Given the description of an element on the screen output the (x, y) to click on. 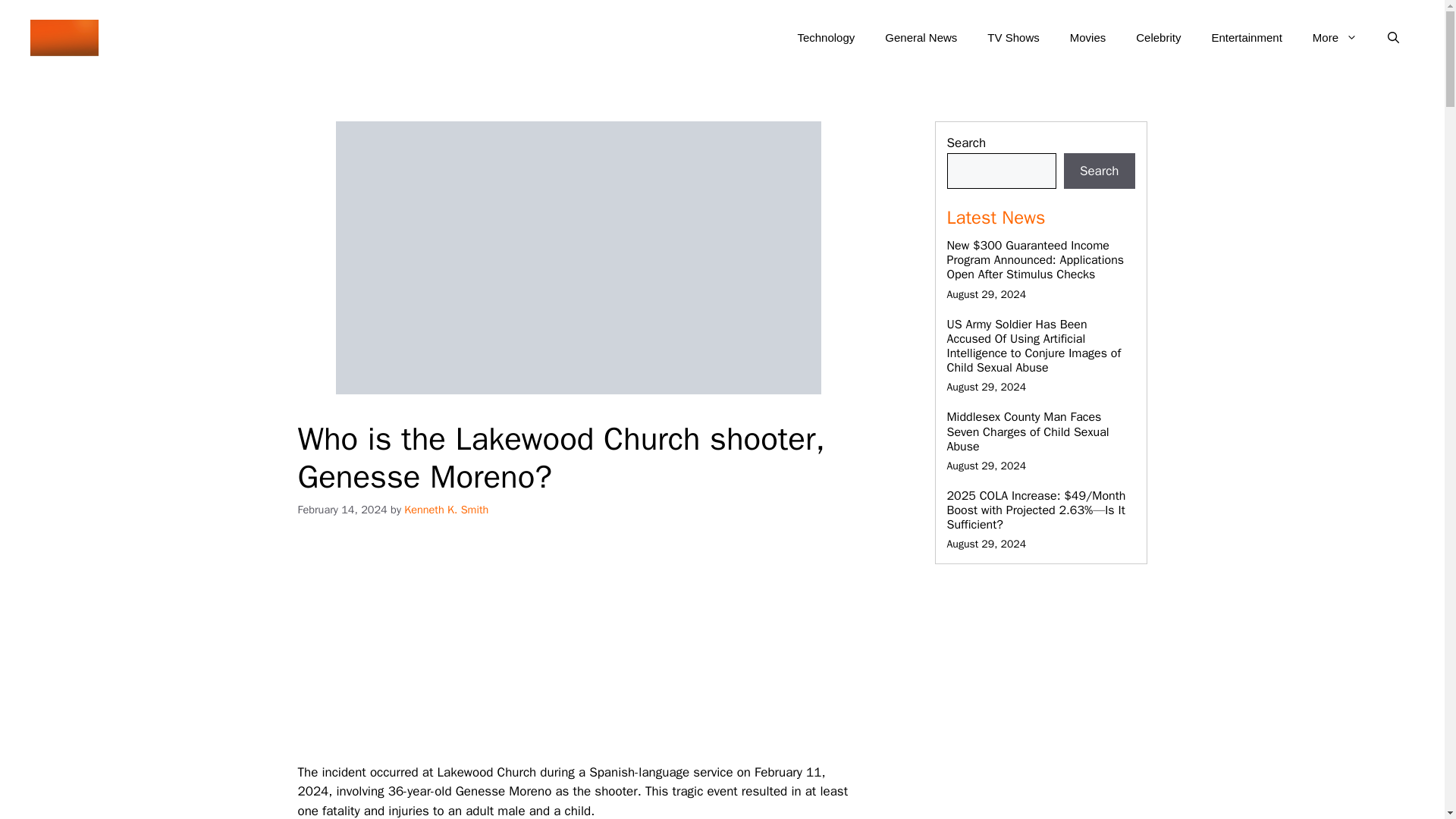
Entertainment (1246, 37)
Movies (1087, 37)
More (1335, 37)
Technology (825, 37)
TV Shows (1013, 37)
View all posts by Kenneth K. Smith (445, 509)
Celebrity (1158, 37)
Kenneth K. Smith (445, 509)
Search (1099, 171)
